Given the description of an element on the screen output the (x, y) to click on. 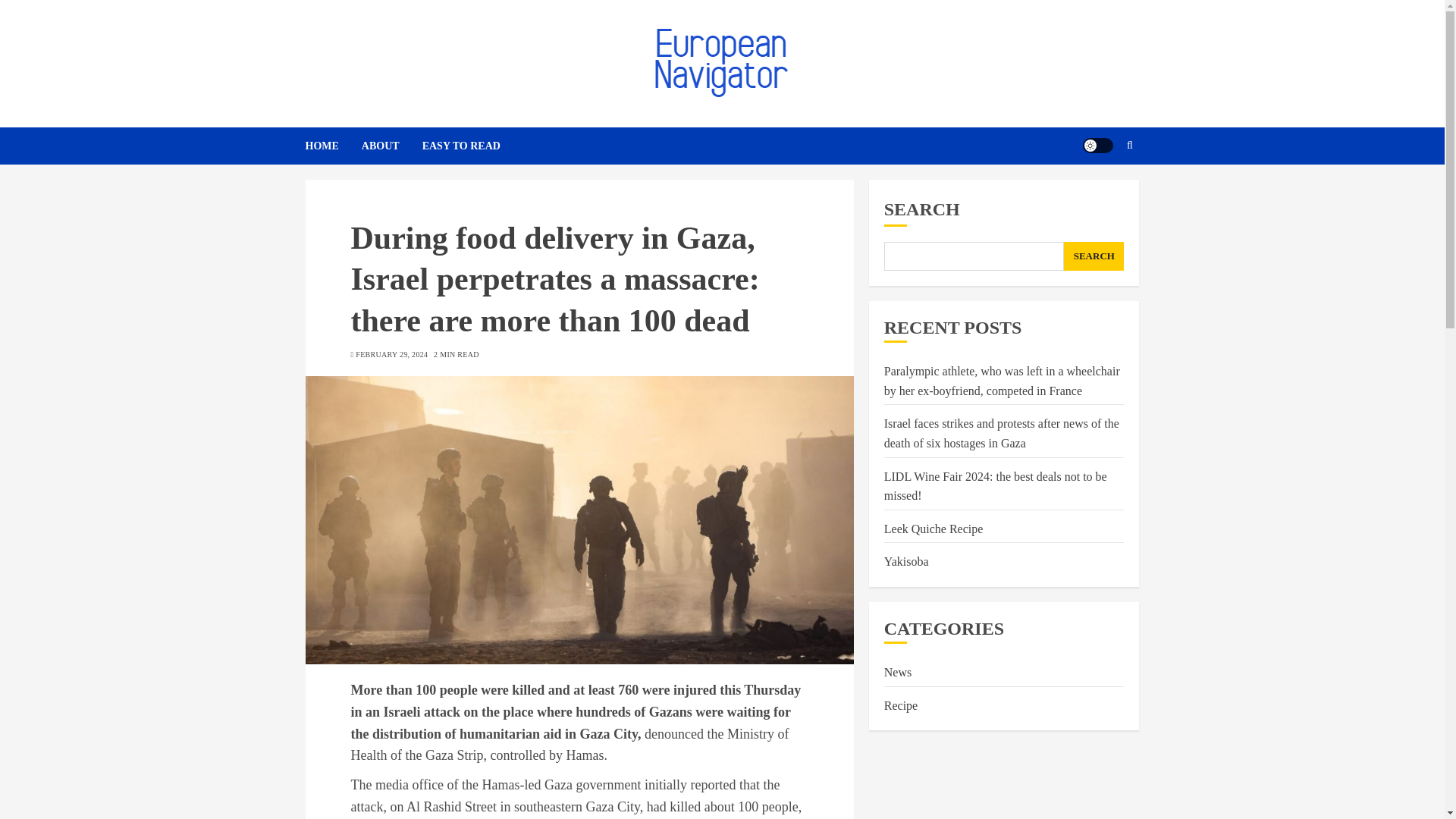
Yakisoba (905, 561)
Recipe (900, 705)
EASY TO READ (461, 145)
HOME (332, 145)
Leek Quiche Recipe (933, 529)
LIDL Wine Fair 2024: the best deals not to be missed! (994, 486)
FEBRUARY 29, 2024 (391, 354)
ABOUT (391, 145)
